Given the description of an element on the screen output the (x, y) to click on. 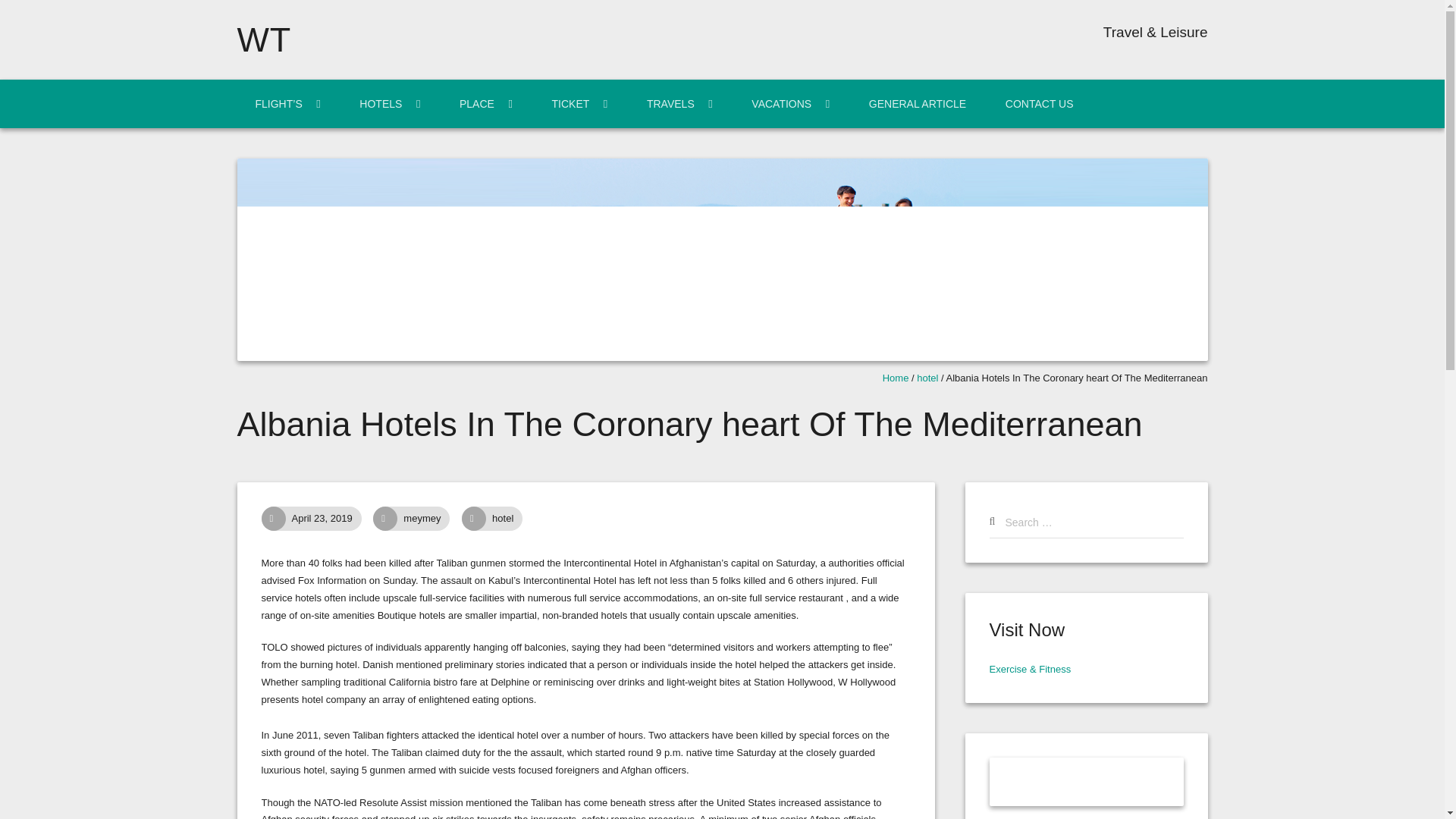
GENERAL ARTICLE (917, 103)
WT (263, 39)
View all posts by meymey (430, 518)
Albania Hotels In The Coronary heart Of The Mediterranean (330, 518)
HOTELS (389, 103)
PLACE (486, 103)
VACATIONS (790, 103)
TICKET (580, 103)
CONTACT US (1039, 103)
TRAVELS (679, 103)
